Given the description of an element on the screen output the (x, y) to click on. 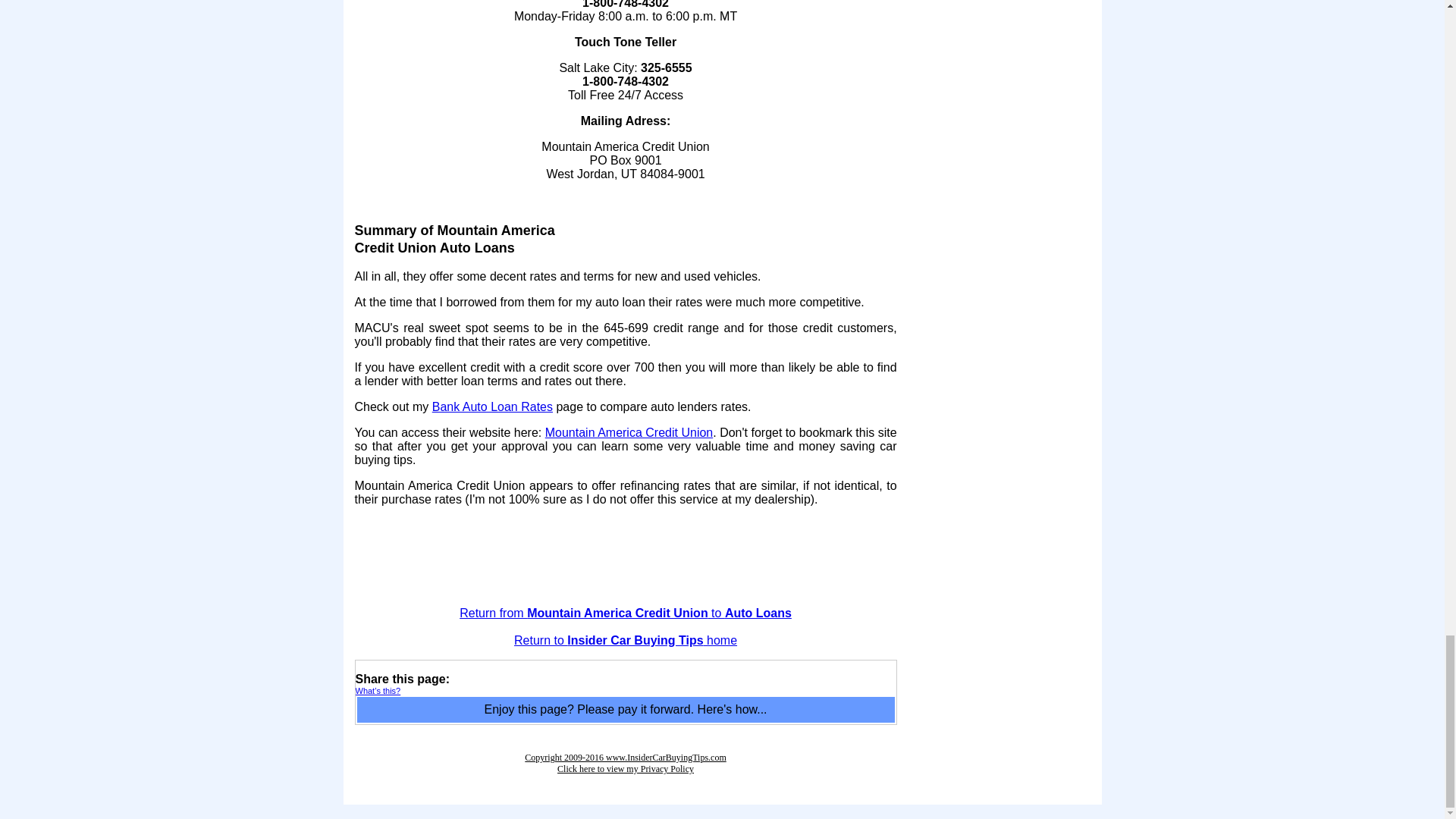
Insider Car Buying Tips (624, 640)
Return from Mountain America Credit Union to Auto Loans (626, 612)
Mountain America Credit Union (628, 431)
Bank Auto Loan Rates (492, 406)
Return to Insider Car Buying Tips home (624, 640)
Insider Car Buying Tips (624, 762)
Auto Loans (626, 612)
